Given the description of an element on the screen output the (x, y) to click on. 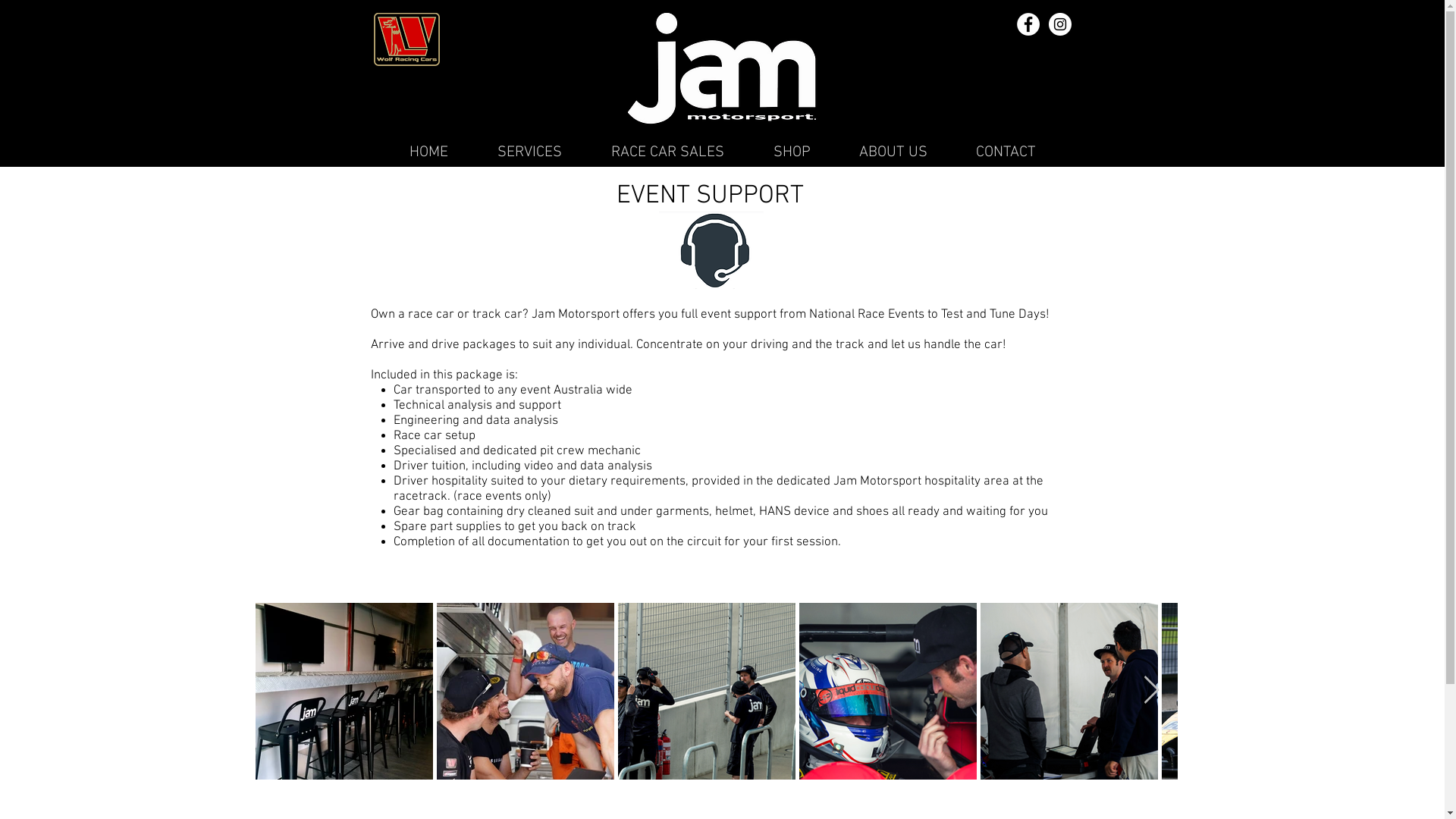
SERVICES Element type: text (529, 150)
SHOP Element type: text (791, 150)
HOME Element type: text (429, 150)
CONTACT Element type: text (1004, 150)
RACE CAR SALES Element type: text (667, 150)
ABOUT US Element type: text (892, 150)
